Given the description of an element on the screen output the (x, y) to click on. 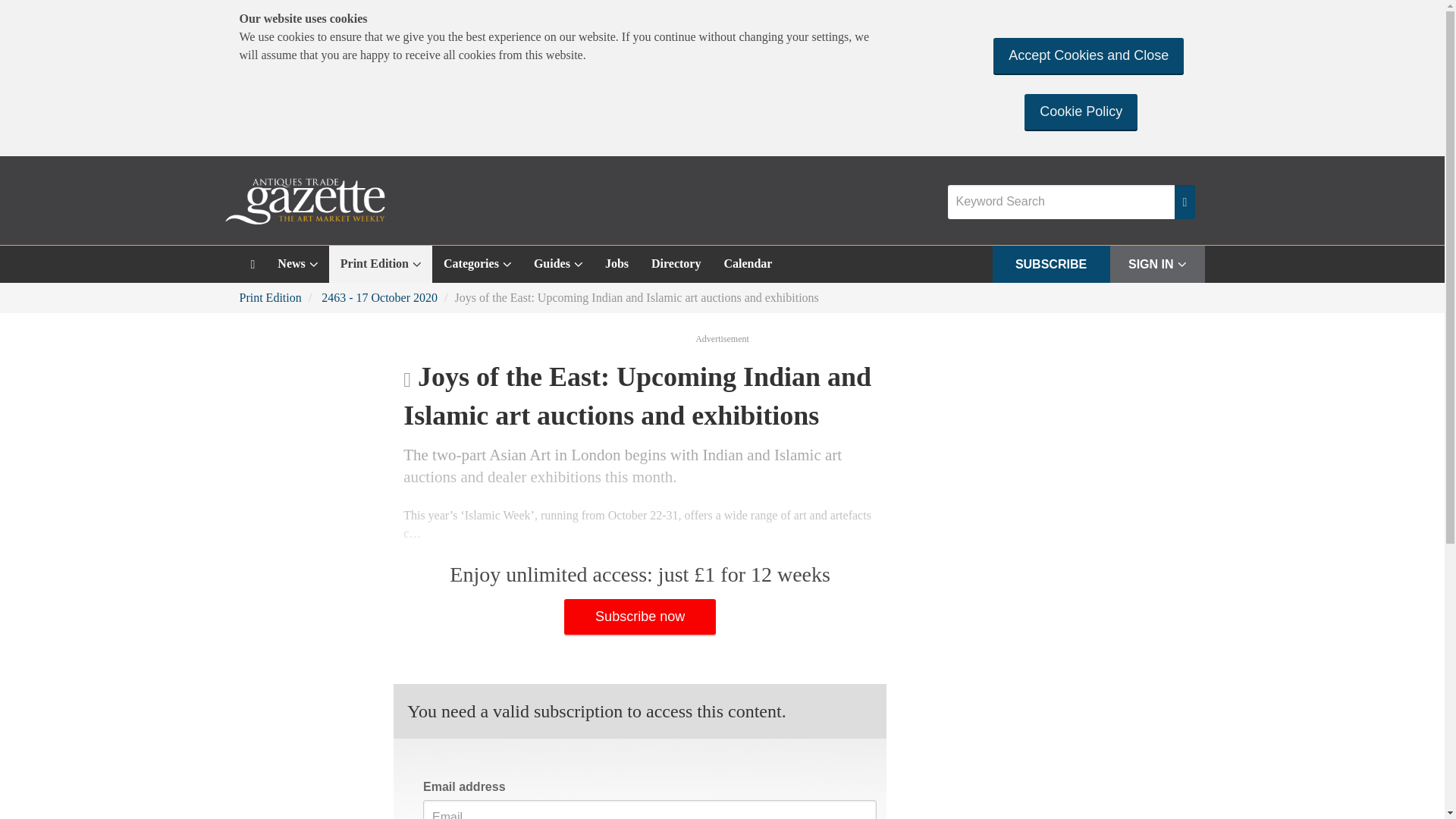
News (297, 263)
home (253, 263)
Search (1184, 202)
Cookie Policy (1081, 111)
Keyword Search (1060, 202)
